Given the description of an element on the screen output the (x, y) to click on. 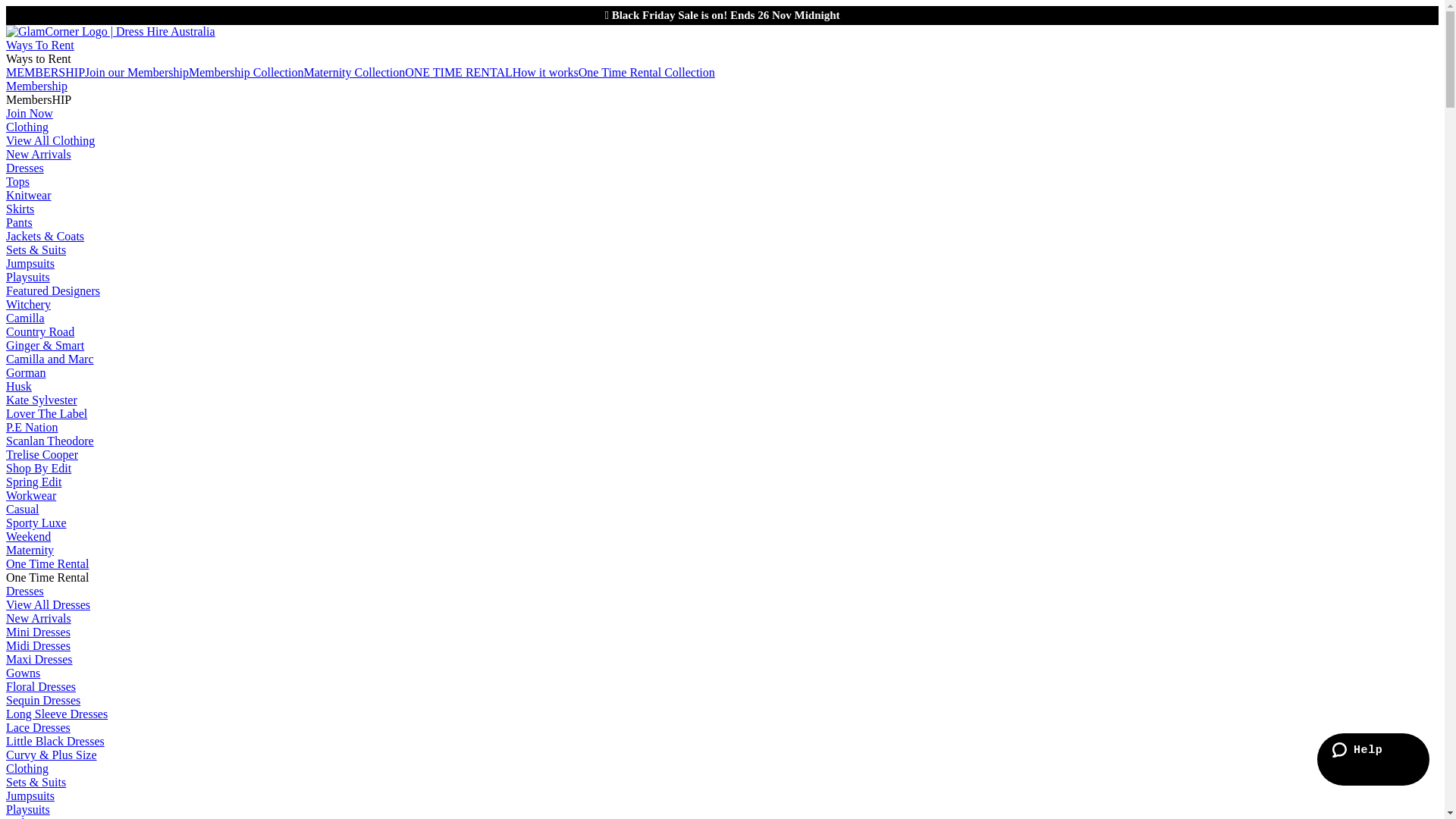
Curvy & Plus Size Element type: text (51, 754)
Ginger & Smart Element type: text (45, 344)
MEMBERSHIP Element type: text (45, 71)
Skirts Element type: text (20, 208)
Sets & Suits Element type: text (35, 249)
Little Black Dresses Element type: text (55, 740)
Country Road Element type: text (40, 331)
Pants Element type: text (19, 222)
Join Now Element type: text (29, 112)
Jumpsuits Element type: text (30, 263)
Dresses Element type: text (24, 590)
Featured Designers Element type: text (53, 290)
Gorman Element type: text (25, 372)
View All Dresses Element type: text (48, 604)
  Help Element type: text (1373, 759)
Husk Element type: text (18, 385)
ONE TIME RENTAL Element type: text (458, 71)
Witchery Element type: text (28, 304)
Tops Element type: text (17, 181)
Maxi Dresses Element type: text (39, 658)
Camilla Element type: text (25, 317)
One Time Rental Collection Element type: text (646, 71)
Sets & Suits Element type: text (35, 781)
Mini Dresses Element type: text (38, 631)
Lover The Label Element type: text (46, 413)
Membership Collection Element type: text (246, 71)
Lace Dresses Element type: text (38, 727)
Trelise Cooper Element type: text (42, 454)
Spring Edit Element type: text (33, 481)
Jumpsuits Element type: text (30, 795)
New Arrivals Element type: text (38, 617)
New Arrivals Element type: text (38, 153)
Gowns Element type: text (23, 672)
Knitwear Element type: text (28, 194)
Kate Sylvester Element type: text (41, 399)
Midi Dresses Element type: text (38, 645)
Sequin Dresses Element type: text (43, 699)
Clothing Element type: text (27, 768)
Clothing Element type: text (27, 126)
Scanlan Theodore Element type: text (50, 440)
Join our Membership Element type: text (136, 71)
Long Sleeve Dresses Element type: text (56, 713)
One Time Rental Element type: text (47, 563)
Jackets & Coats Element type: text (45, 235)
Weekend Element type: text (28, 536)
Ways To Rent Element type: text (40, 44)
Floral Dresses Element type: text (40, 686)
Casual Element type: text (22, 508)
Playsuits Element type: text (28, 809)
Workwear Element type: text (31, 495)
Camilla and Marc Element type: text (50, 358)
Membership Element type: text (36, 85)
Shop By Edit Element type: text (38, 467)
View All Clothing Element type: text (50, 140)
Playsuits Element type: text (28, 276)
Maternity Element type: text (29, 549)
Dresses Element type: text (24, 167)
P.E Nation Element type: text (31, 426)
How it works Element type: text (545, 71)
Sporty Luxe Element type: text (36, 522)
Maternity Collection Element type: text (353, 71)
